Given the description of an element on the screen output the (x, y) to click on. 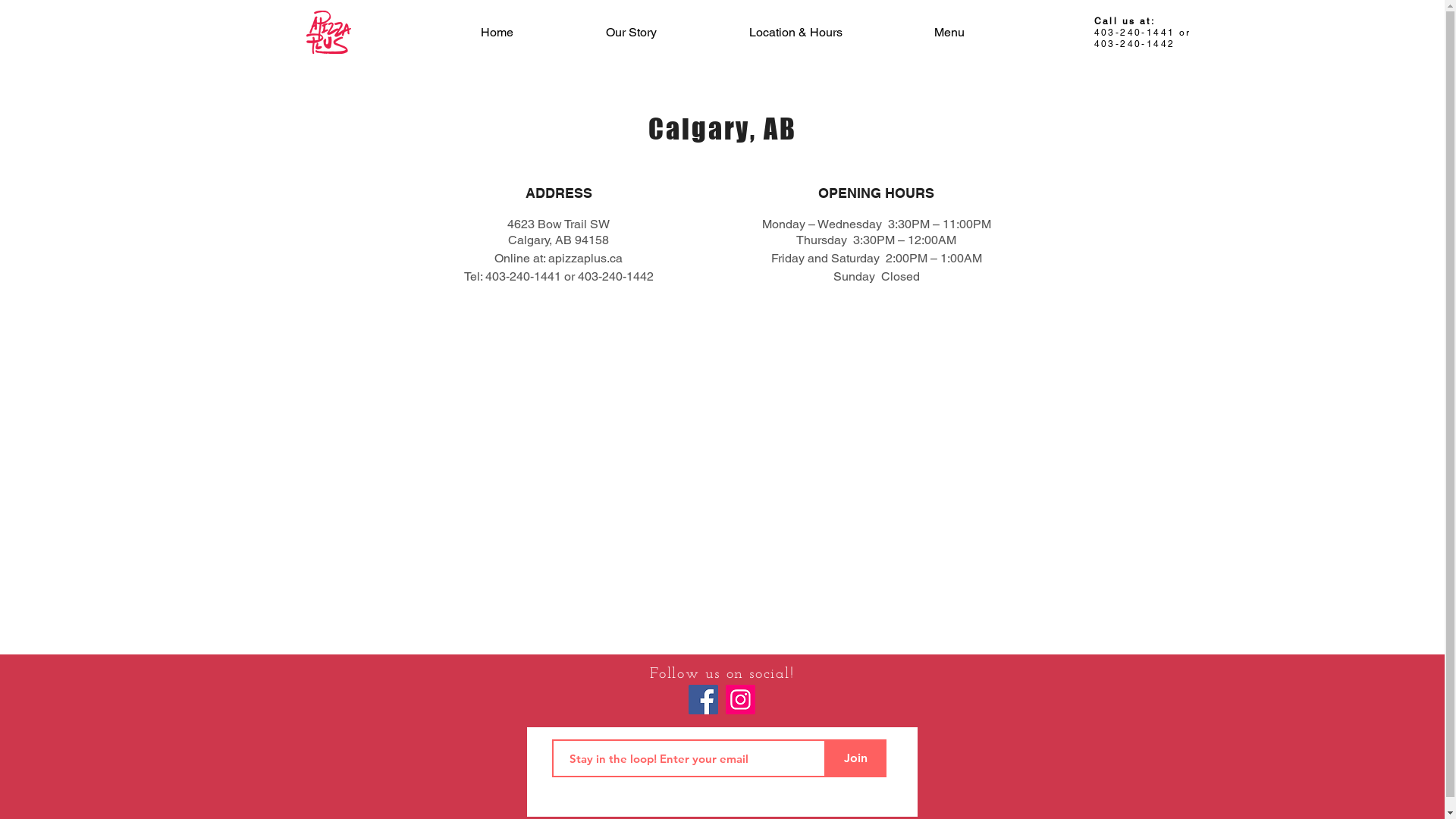
Our Story Element type: text (630, 32)
Menu Element type: text (949, 32)
Join Element type: text (855, 758)
Google Maps Element type: hover (722, 445)
Home Element type: text (495, 32)
Location & Hours Element type: text (795, 32)
